Given the description of an element on the screen output the (x, y) to click on. 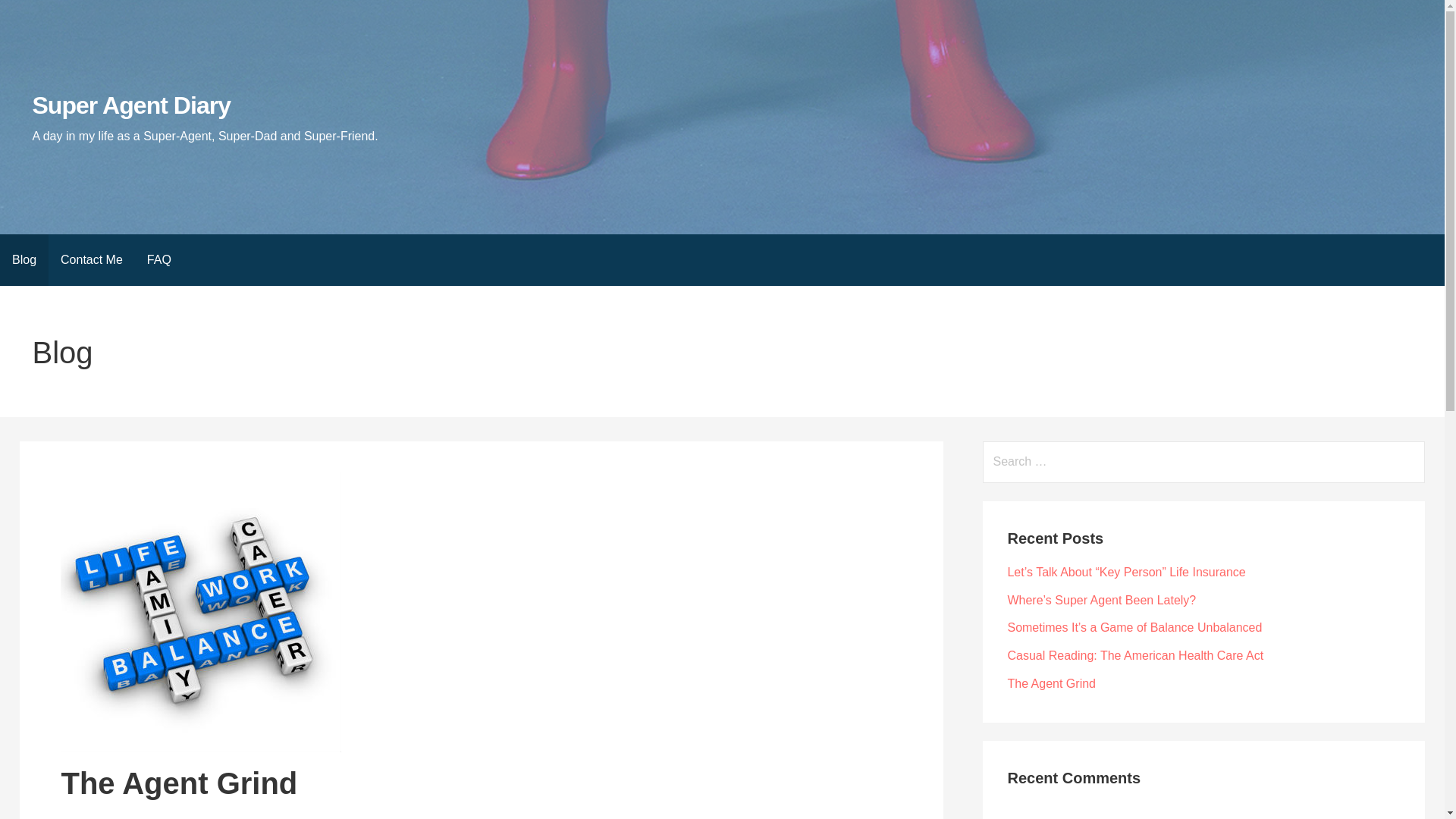
Casual Reading: The American Health Care Act (1135, 655)
FAQ (159, 259)
Search (31, 15)
Contact Me (91, 259)
Blog (24, 259)
Super Agent Diary (131, 104)
The Agent Grind (1051, 683)
